Given the description of an element on the screen output the (x, y) to click on. 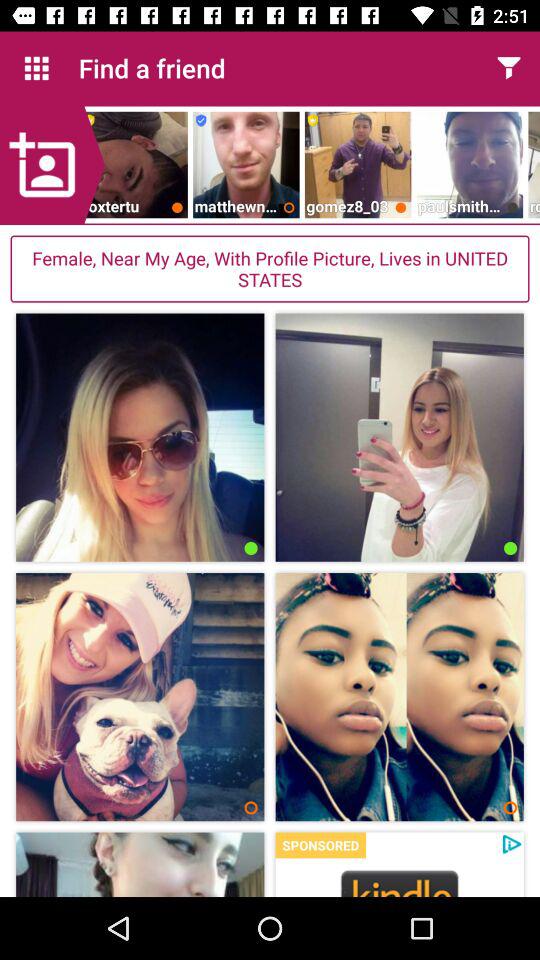
press the icon next to the find a friend (36, 68)
